Given the description of an element on the screen output the (x, y) to click on. 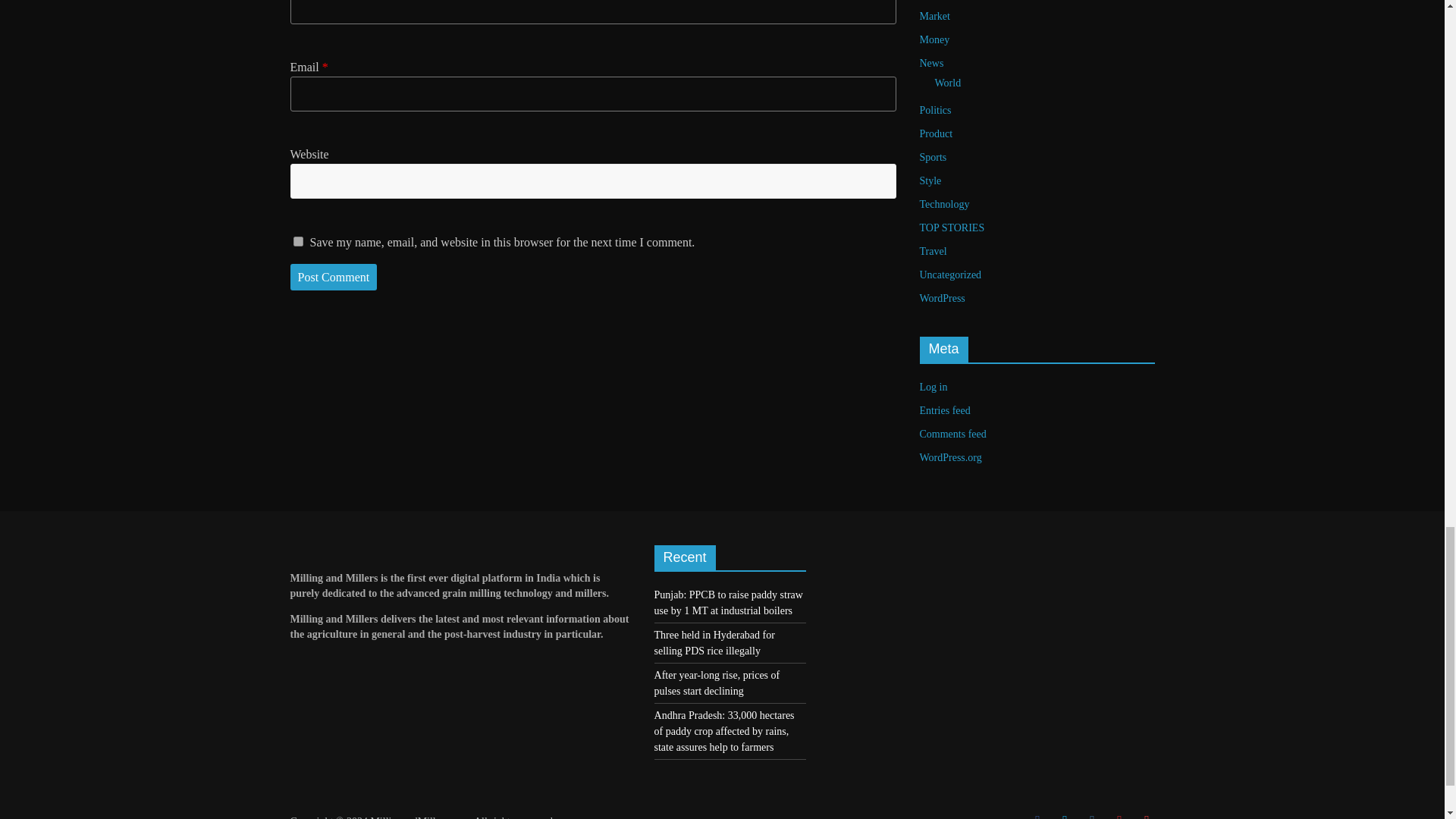
MillingandMillers.com (418, 817)
yes (297, 241)
Post Comment (333, 277)
